Given the description of an element on the screen output the (x, y) to click on. 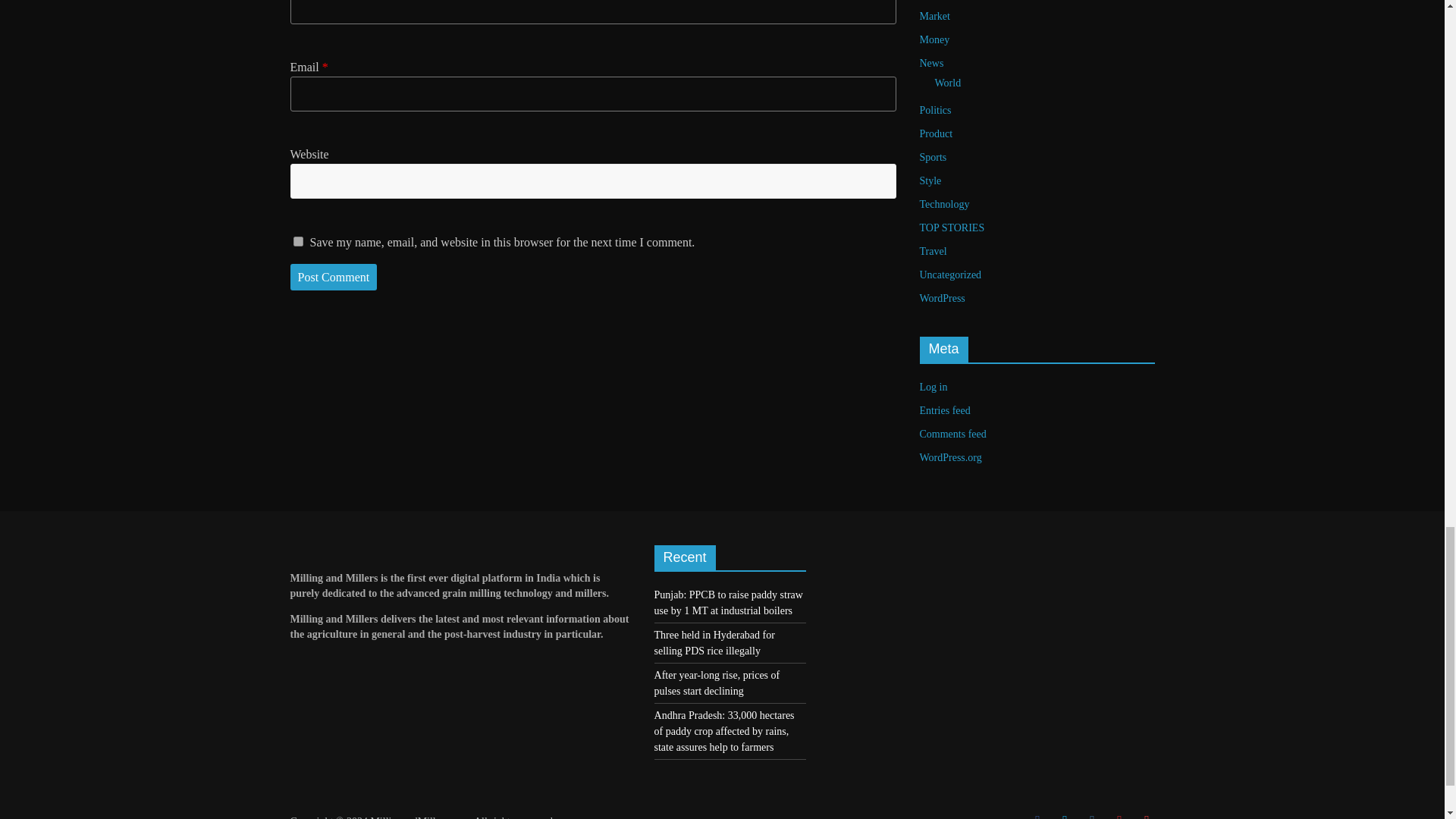
MillingandMillers.com (418, 817)
yes (297, 241)
Post Comment (333, 277)
